Given the description of an element on the screen output the (x, y) to click on. 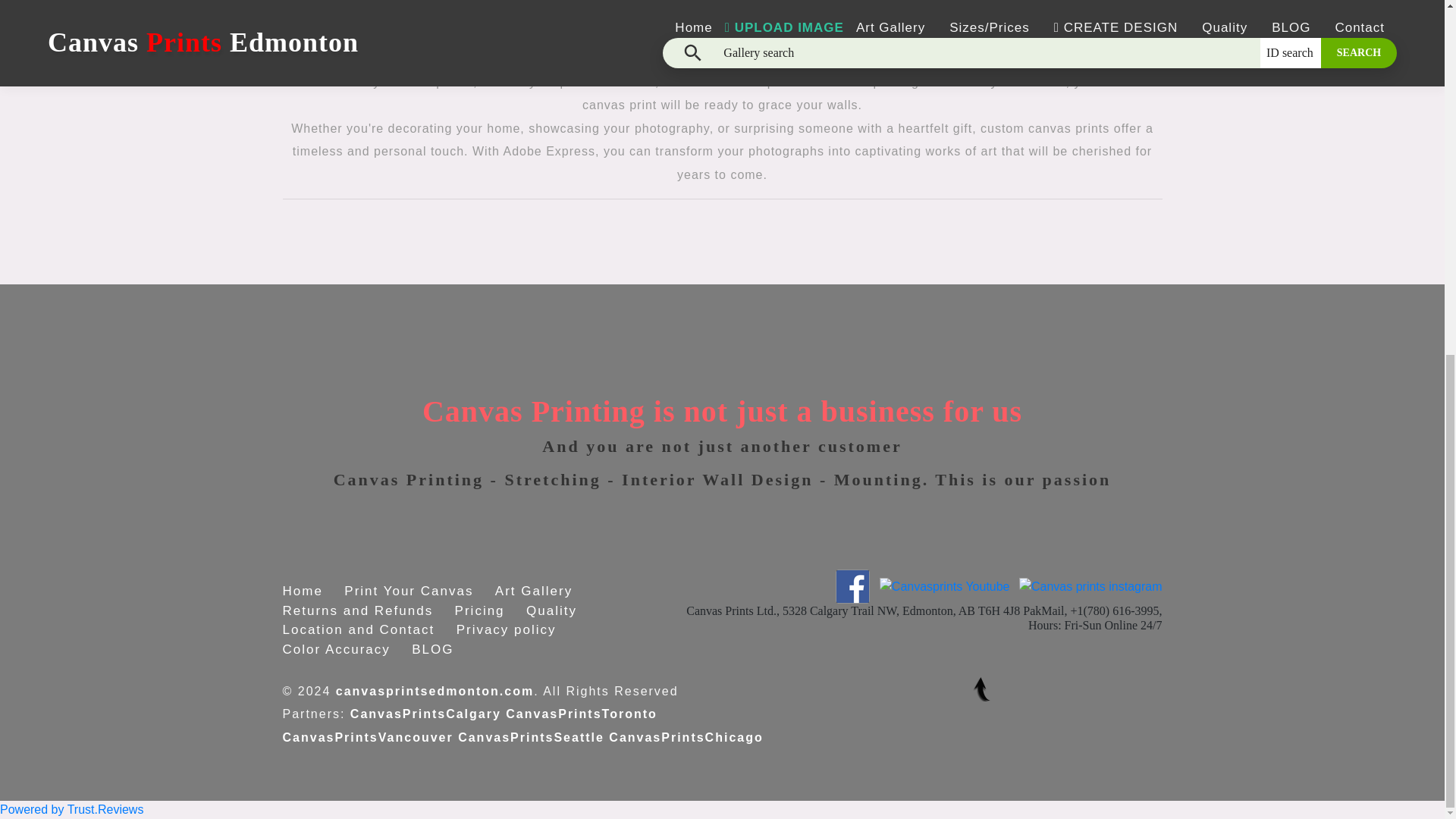
Privacy policy (506, 629)
canvasprintsedmonton.com (435, 690)
Location and Contact (357, 629)
Print Your Canvas (408, 590)
Returns and Refunds (357, 610)
Pricing (479, 610)
CanvasPrintsChicago (685, 737)
CanvasPrintsVancouver (367, 737)
CanvasPrintsCalgary (425, 713)
Quality (550, 610)
